Given the description of an element on the screen output the (x, y) to click on. 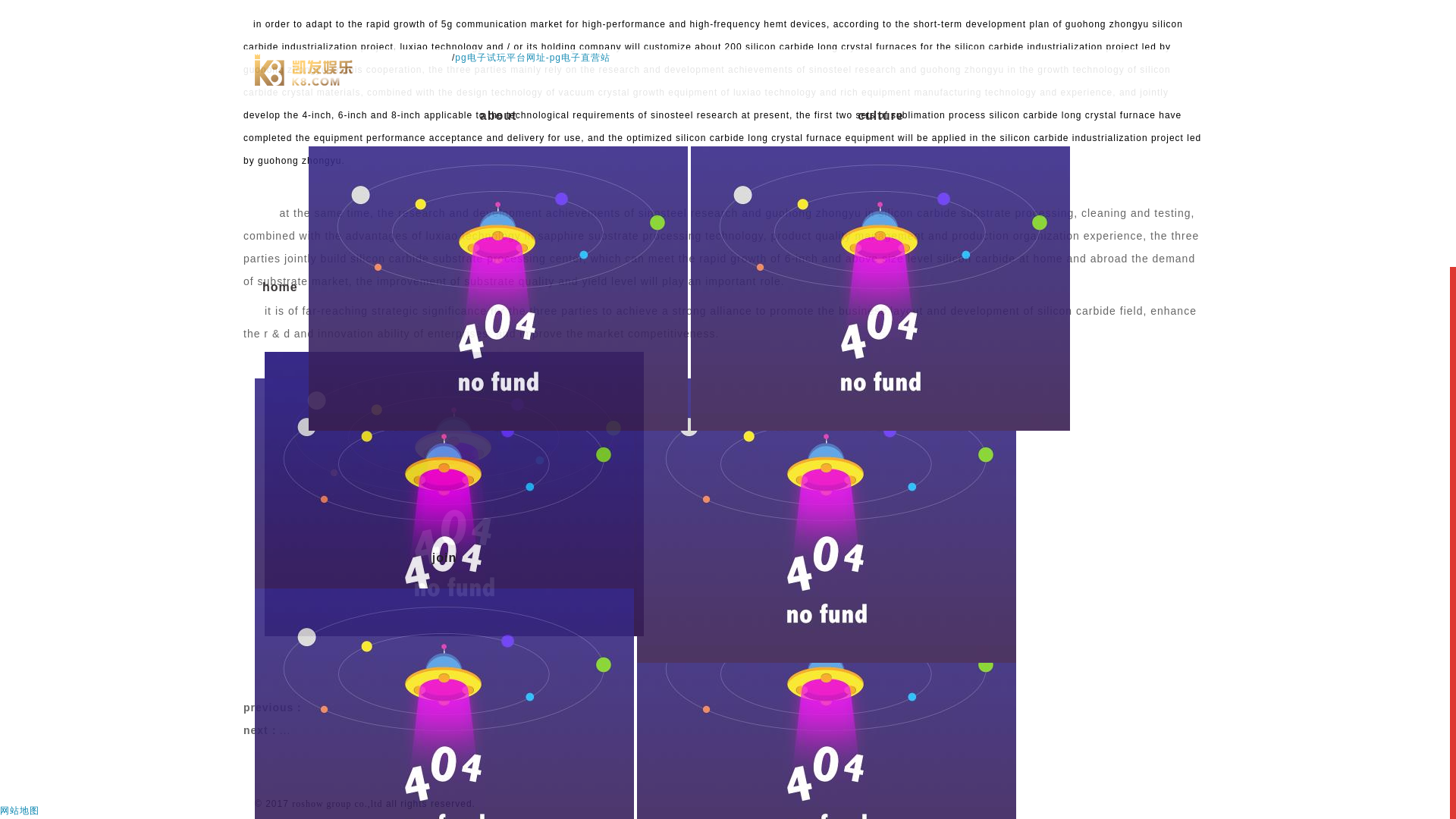
contact (826, 161)
join (443, 161)
